Given the description of an element on the screen output the (x, y) to click on. 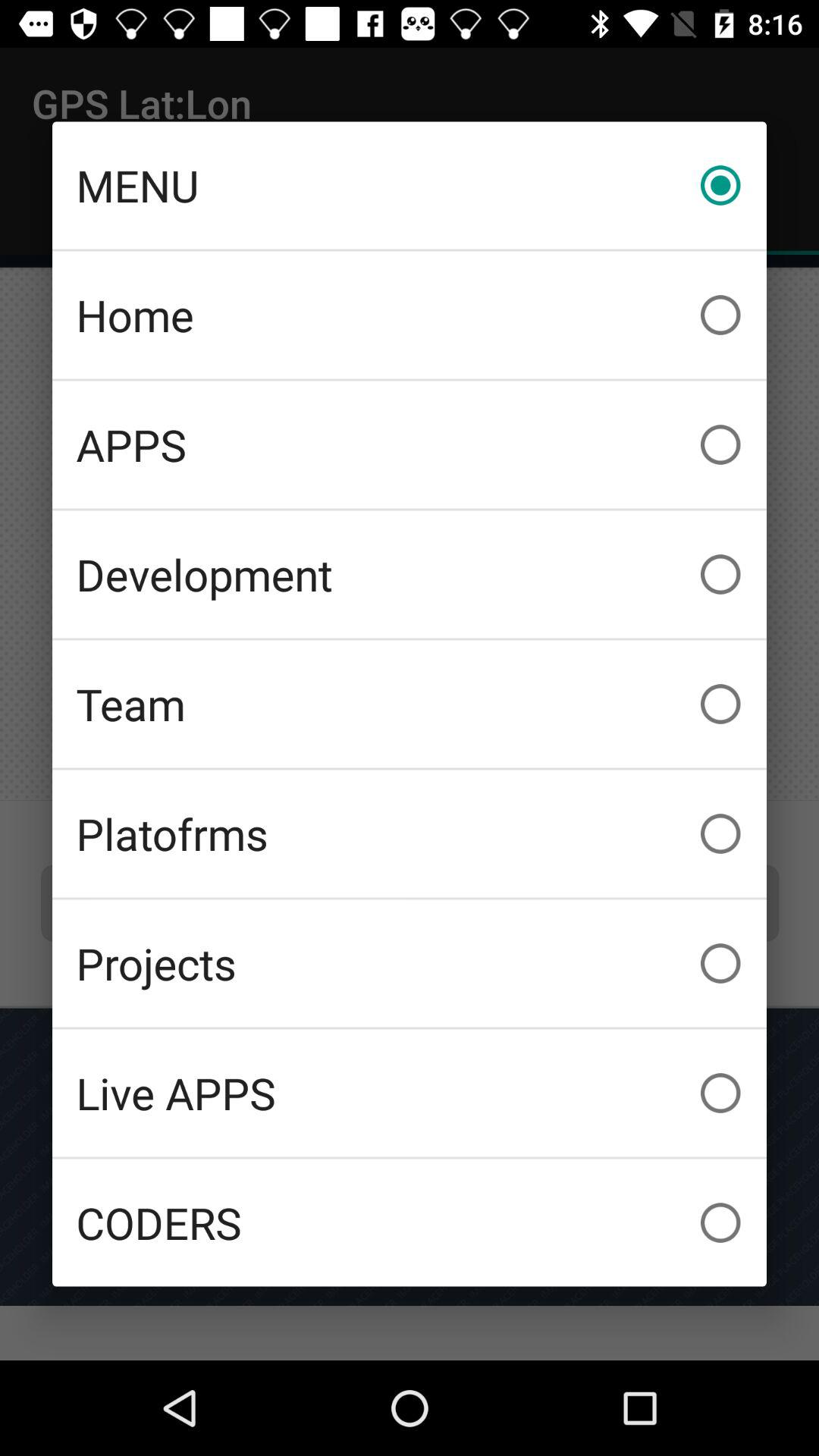
turn off home (409, 314)
